Given the description of an element on the screen output the (x, y) to click on. 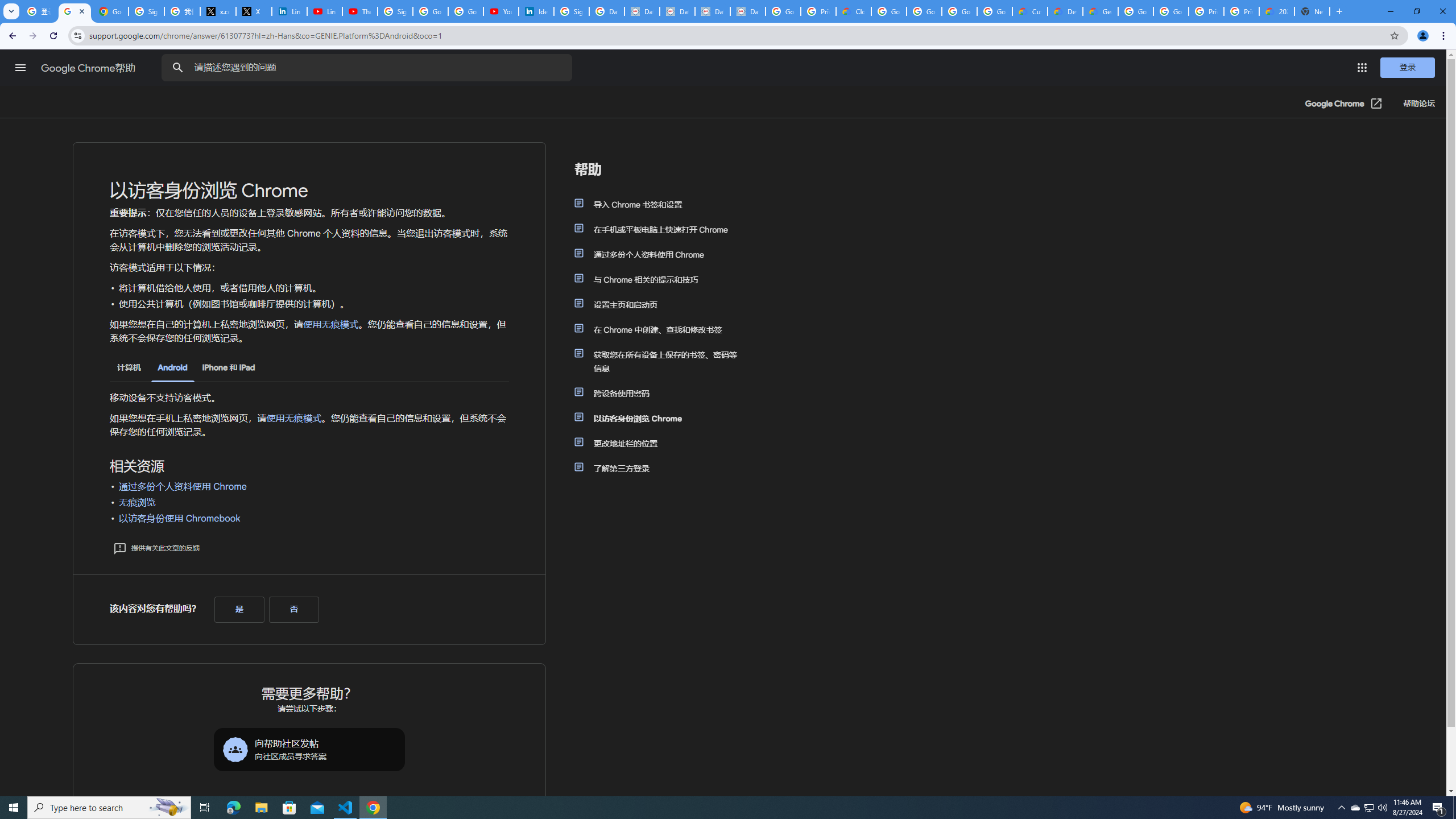
Google Cloud Platform (1170, 11)
Data Privacy Framework (641, 11)
Gemini for Business and Developers | Google Cloud (1099, 11)
New Tab (1312, 11)
